Given the description of an element on the screen output the (x, y) to click on. 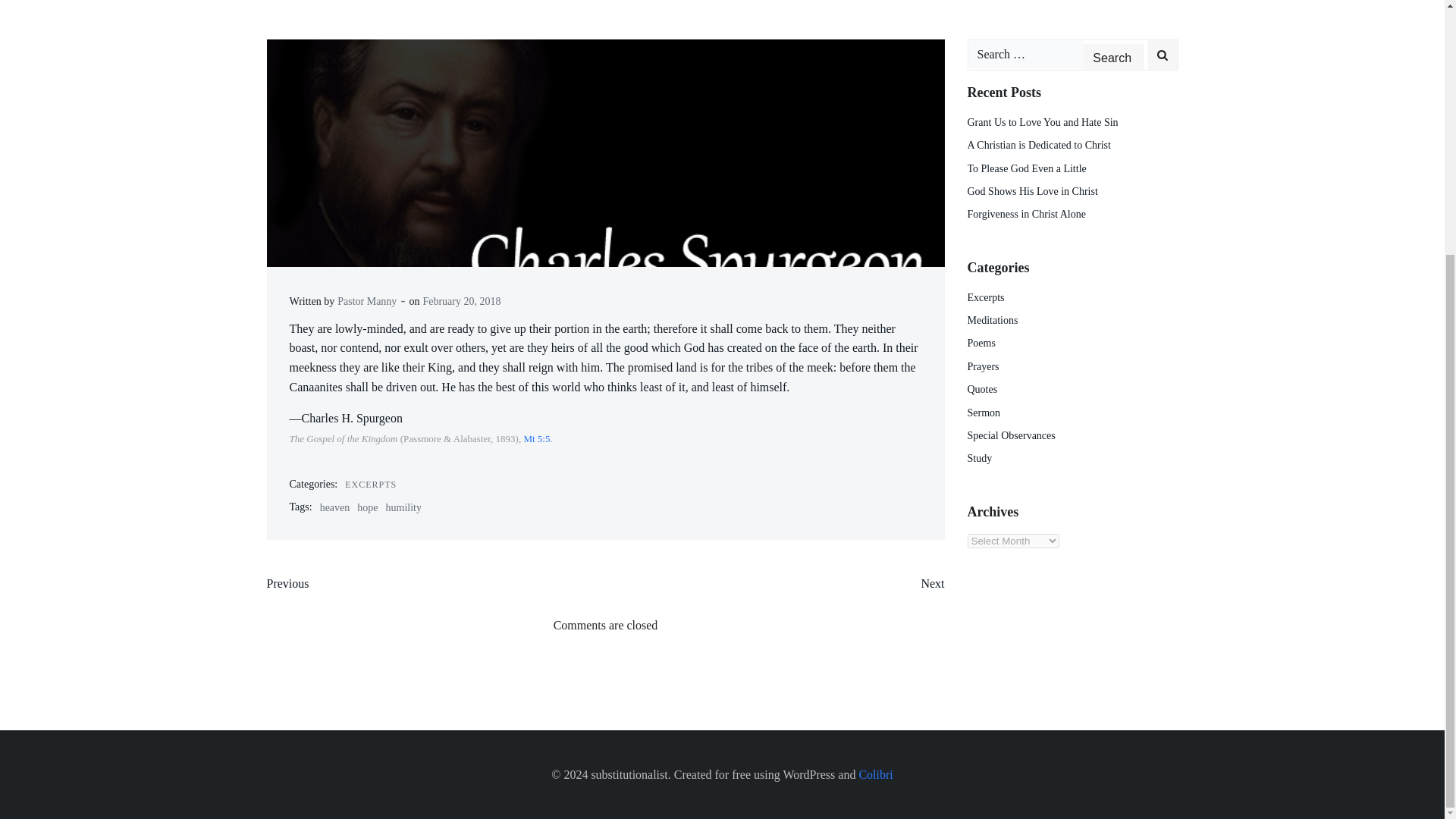
hope Tag (366, 507)
Next (931, 583)
Meditations (992, 319)
Study (980, 458)
Mt 5:5 (536, 438)
Special Observances (1011, 435)
Colibri (875, 774)
Previous (287, 583)
hope (366, 507)
Forgiveness in Christ Alone (1027, 214)
A Christian is Dedicated to Christ (1039, 144)
heaven Tag (335, 507)
To Please God Even a Little (1027, 168)
Grant Us to Love You and Hate Sin (1043, 122)
humility Tag (403, 507)
